Given the description of an element on the screen output the (x, y) to click on. 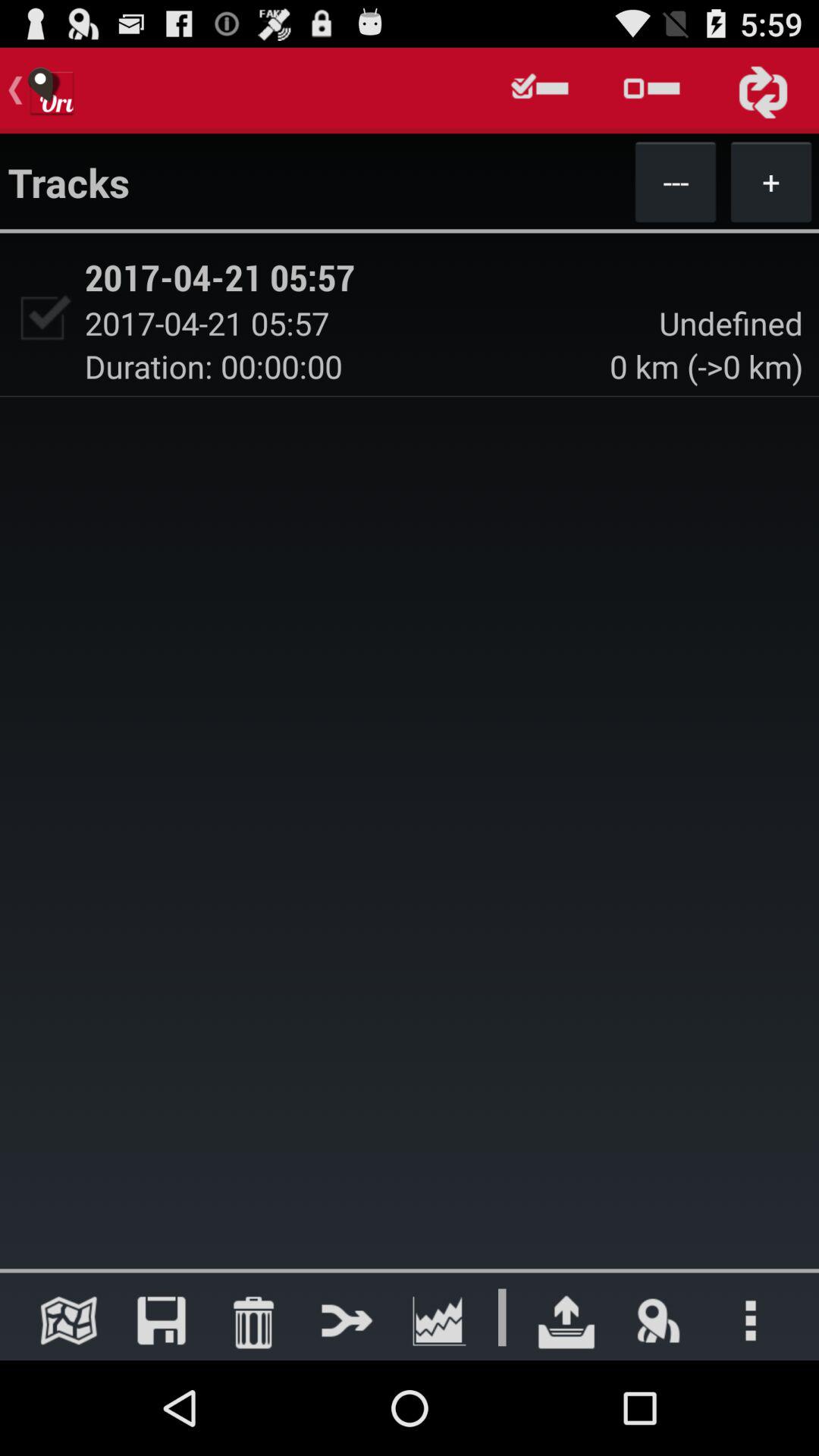
launch item to the left of + (675, 181)
